Given the description of an element on the screen output the (x, y) to click on. 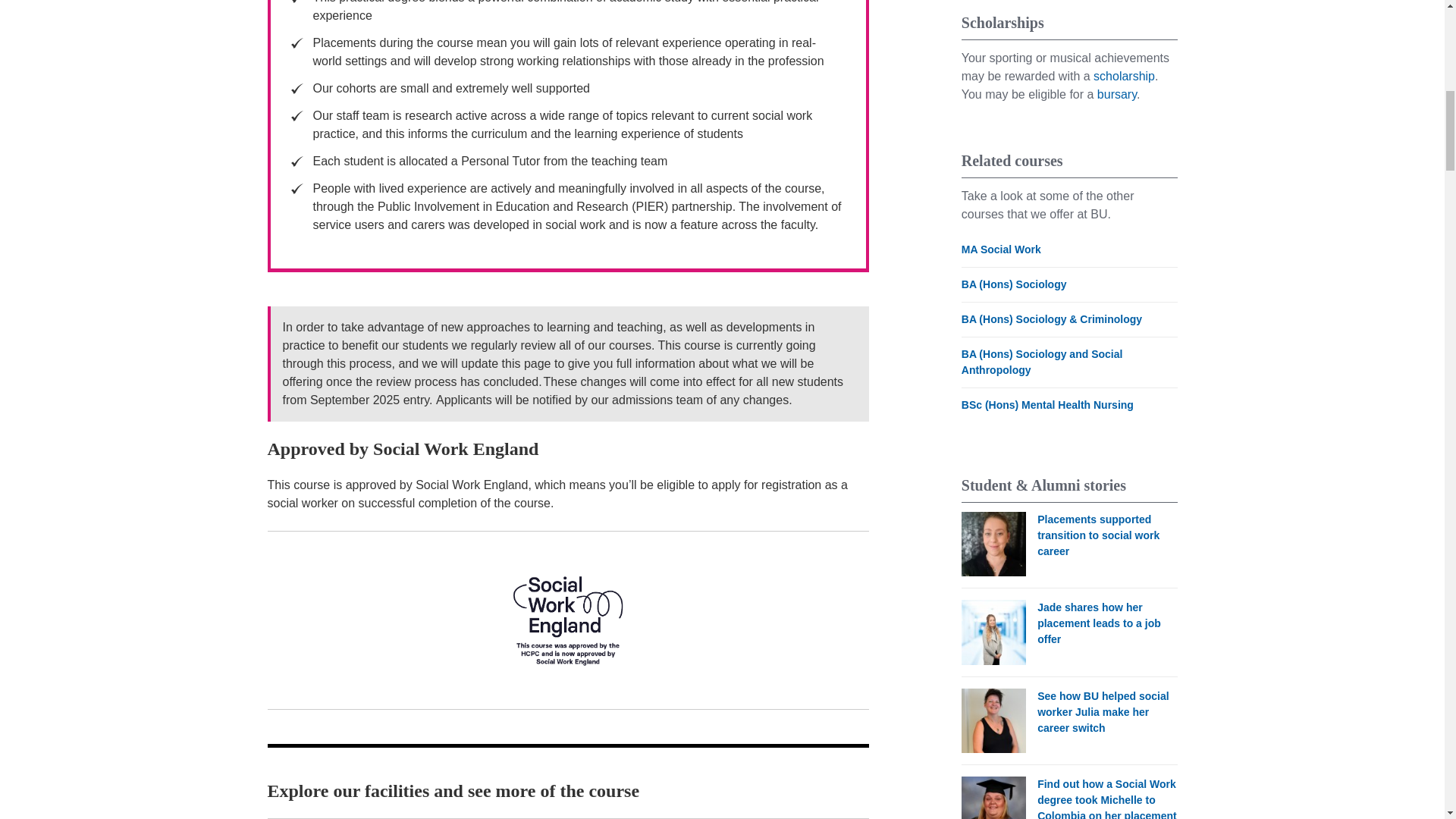
See how BU helped social worker Julia make her career switch (993, 720)
Alumni Story Social Work Georgina Baker (993, 543)
